Given the description of an element on the screen output the (x, y) to click on. 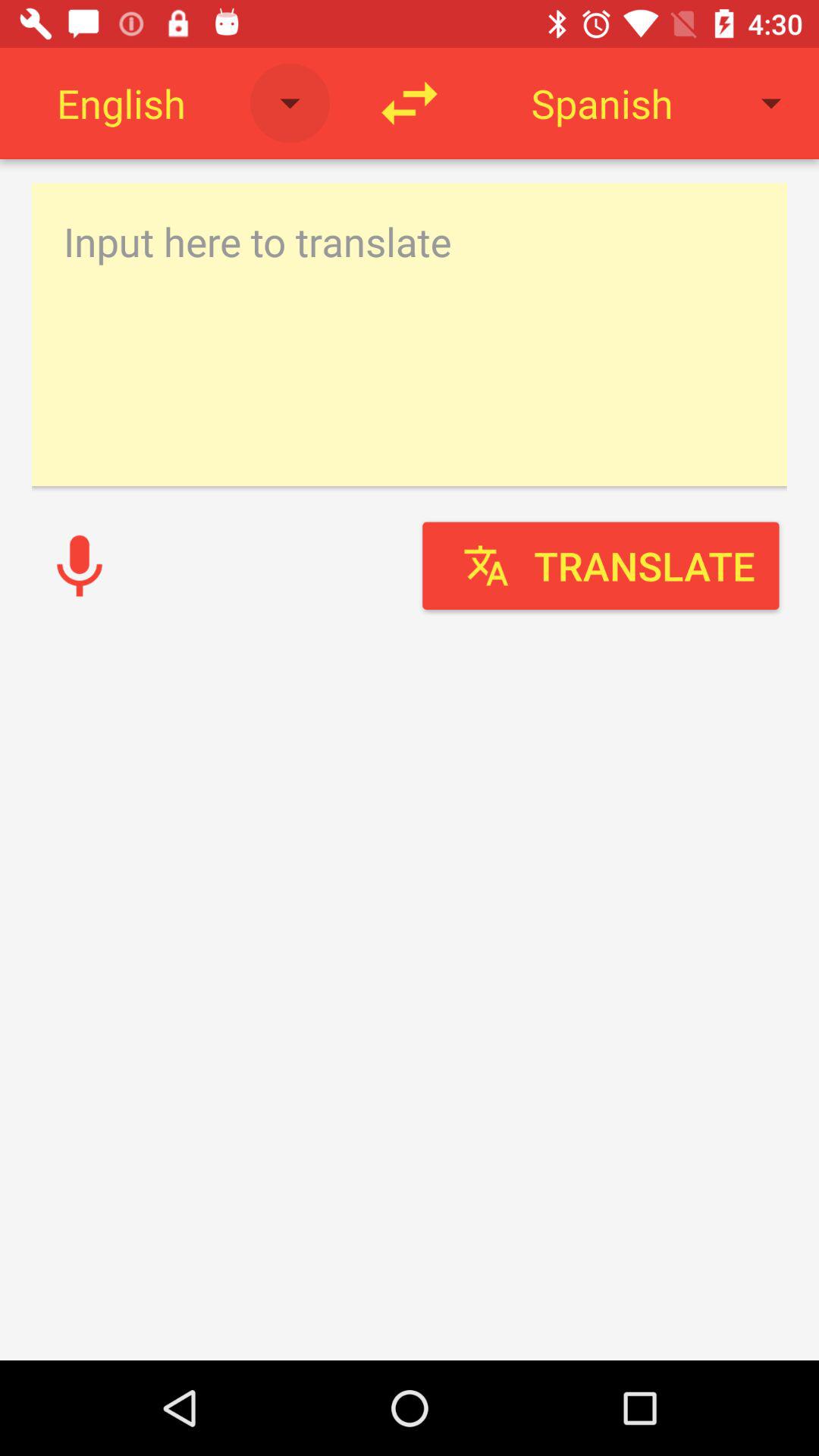
switch direction of translation (409, 103)
